Given the description of an element on the screen output the (x, y) to click on. 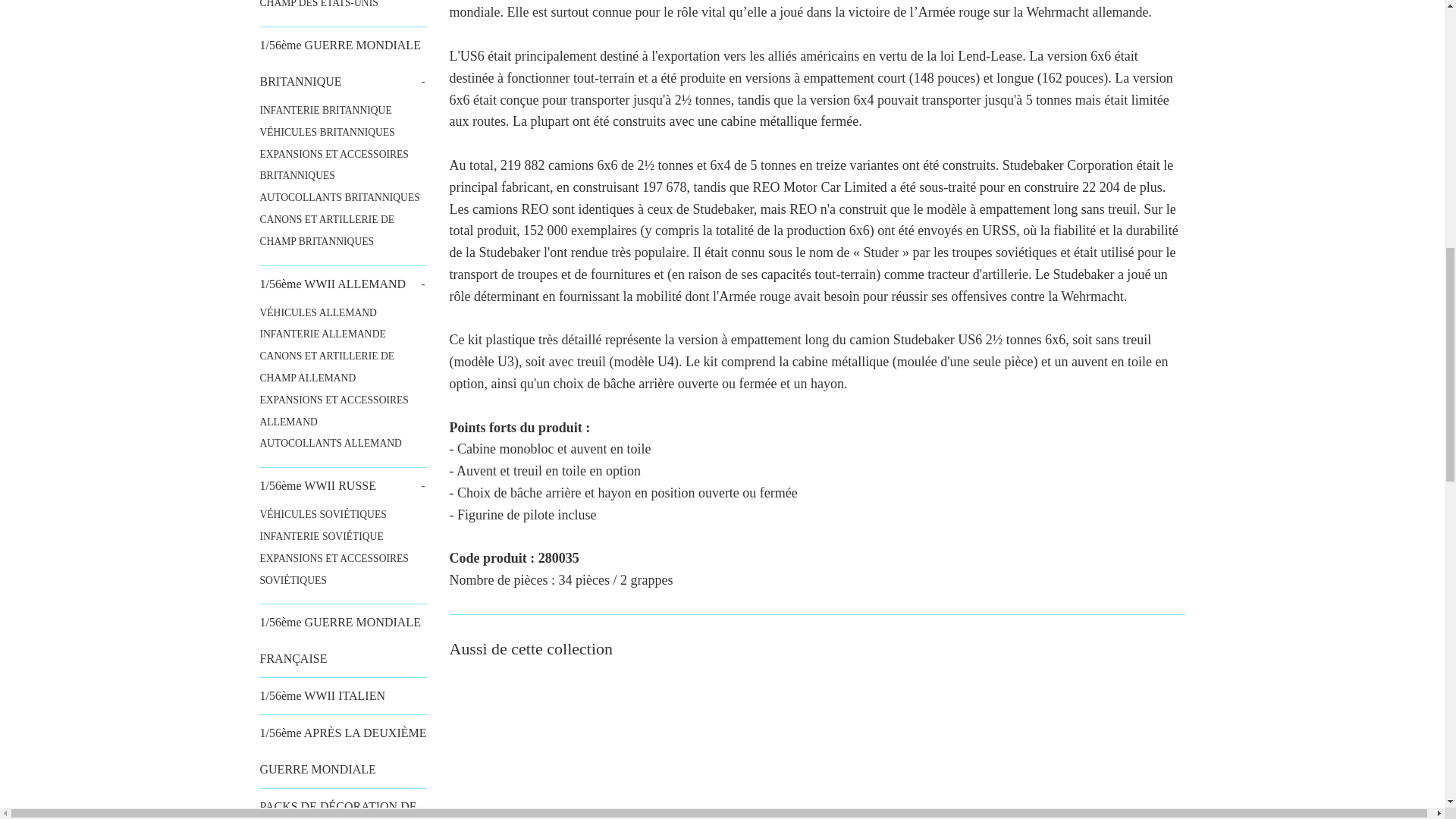
INFANTERIE ALLEMANDE (342, 334)
INFANTERIE BRITANNIQUE (342, 110)
AUTOCOLLANTS BRITANNIQUES (342, 198)
EXPANSIONS ET ACCESSOIRES ALLEMAND (342, 411)
CANONS ET ARTILLERIE DE CHAMP BRITANNIQUES (342, 231)
CANONS ET ARTILLERIE DE CHAMP ALLEMAND (342, 367)
AUTOCOLLANTS ALLEMAND (342, 444)
EXPANSIONS ET ACCESSOIRES BRITANNIQUES (342, 166)
